Given the description of an element on the screen output the (x, y) to click on. 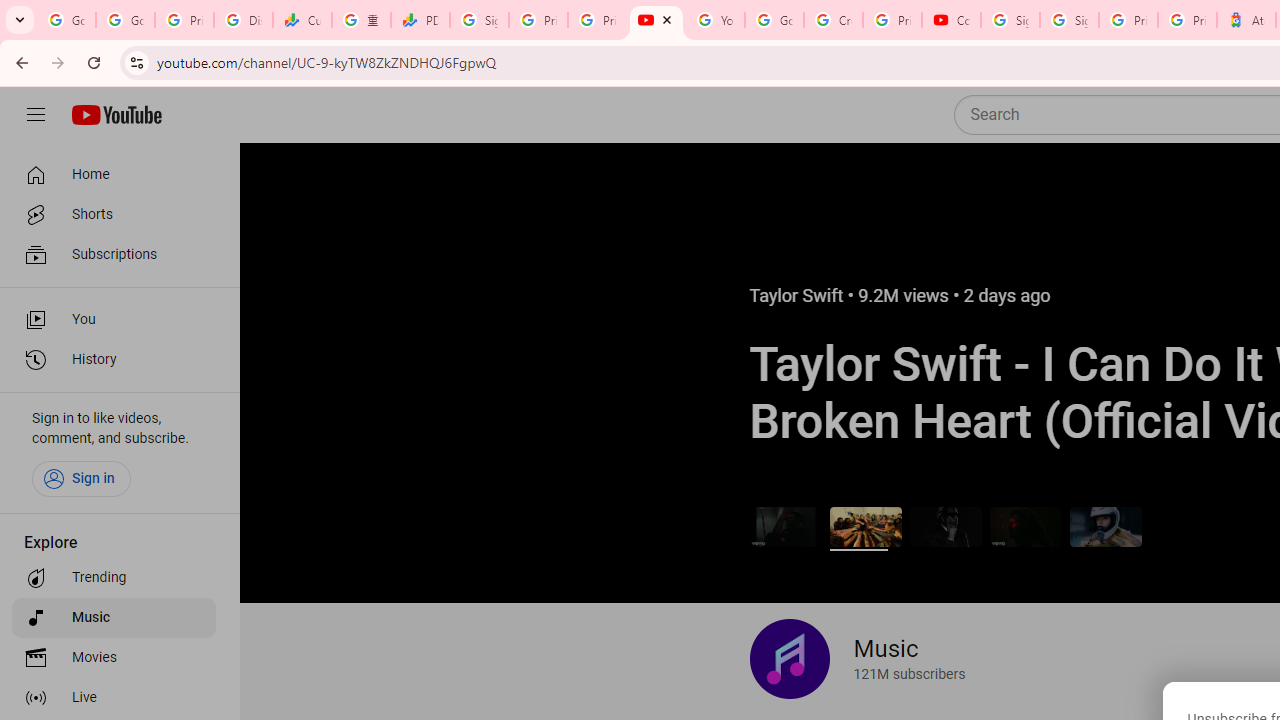
PDD Holdings Inc - ADR (PDD) Price & News - Google Finance (420, 20)
Content Creator Programs & Opportunities - YouTube Creators (950, 20)
The Music Channel - YouTube (656, 20)
Live (113, 697)
